Given the description of an element on the screen output the (x, y) to click on. 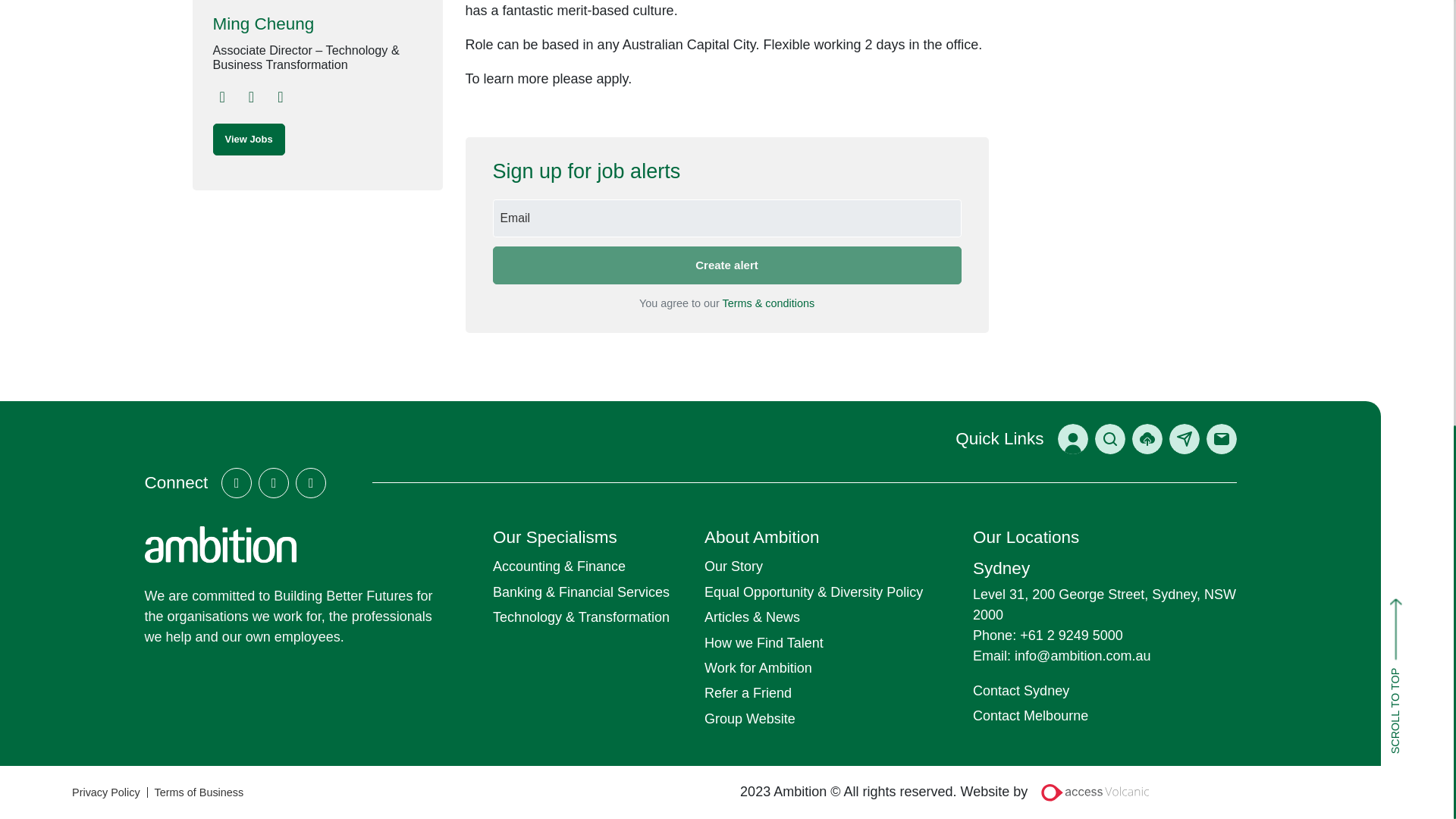
View Jobs (247, 138)
Create alert (726, 265)
Ming Cheung (317, 24)
